Given the description of an element on the screen output the (x, y) to click on. 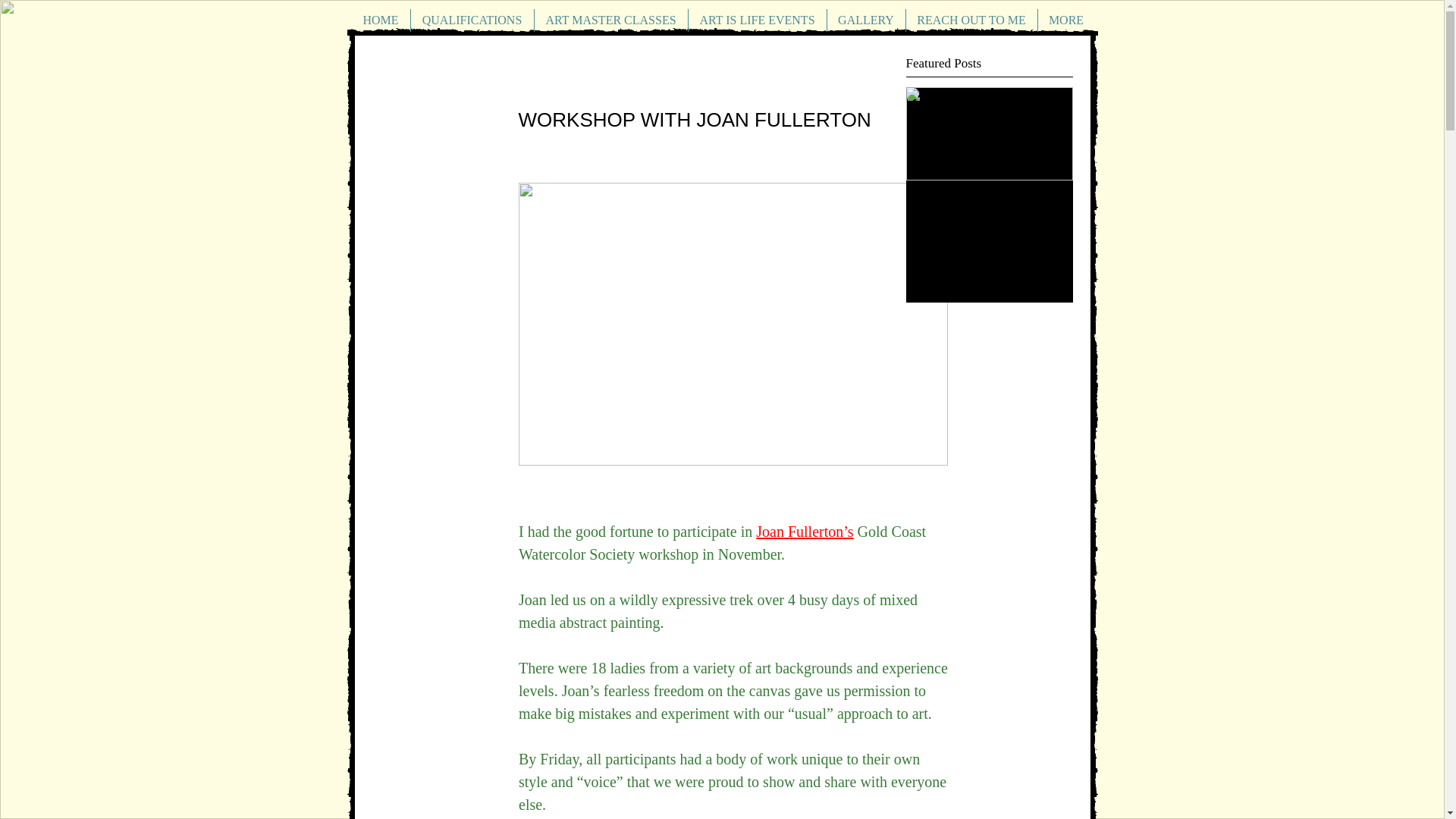
GALLERY (865, 20)
REACH OUT TO ME (970, 20)
Monday Motivation (988, 194)
ART IS LIFE EVENTS (757, 20)
HOME (381, 20)
Monday Motivation (988, 194)
ART MASTER CLASSES (610, 20)
QUALIFICATIONS (472, 20)
